Given the description of an element on the screen output the (x, y) to click on. 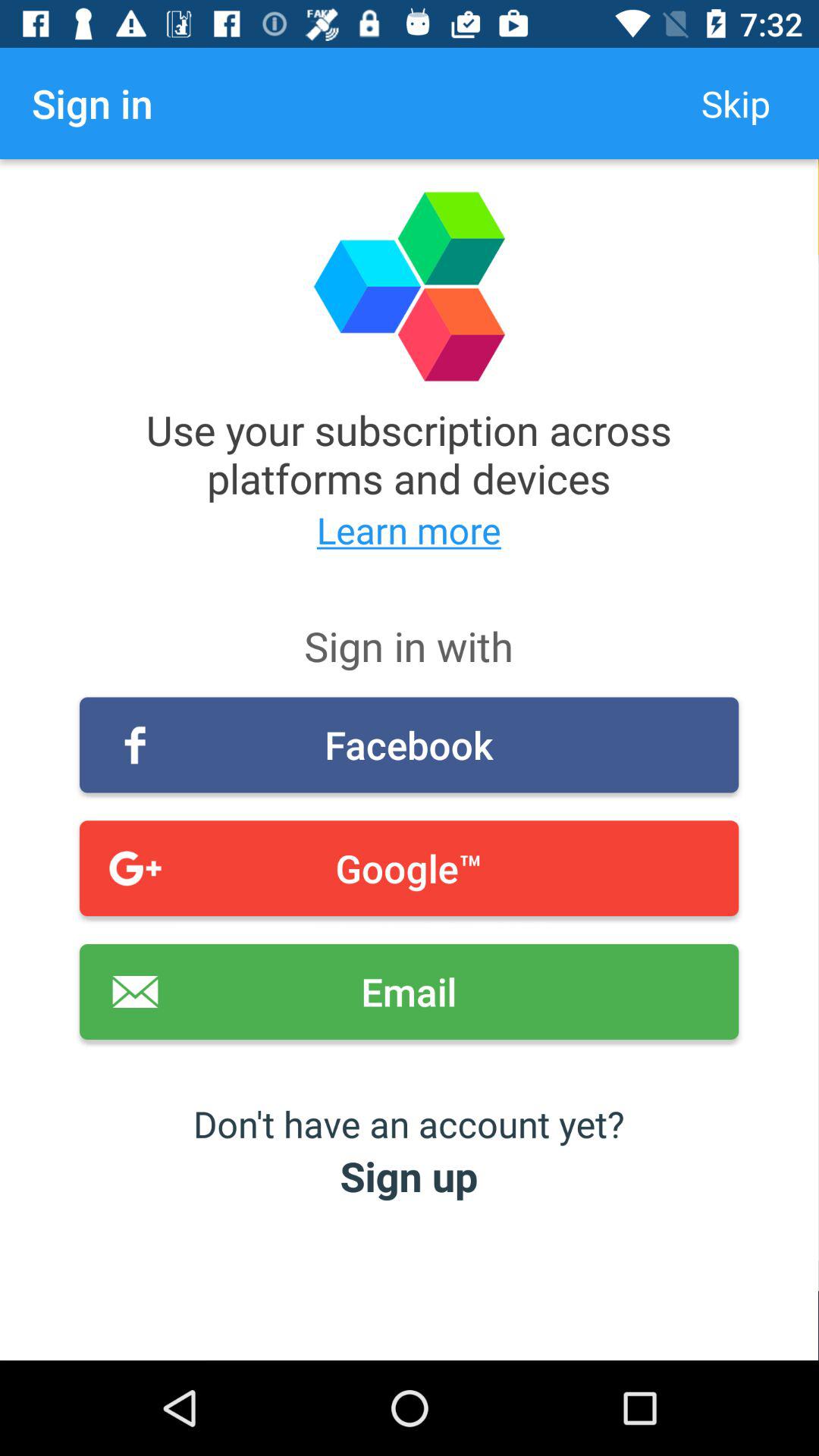
jump until facebook item (408, 744)
